Given the description of an element on the screen output the (x, y) to click on. 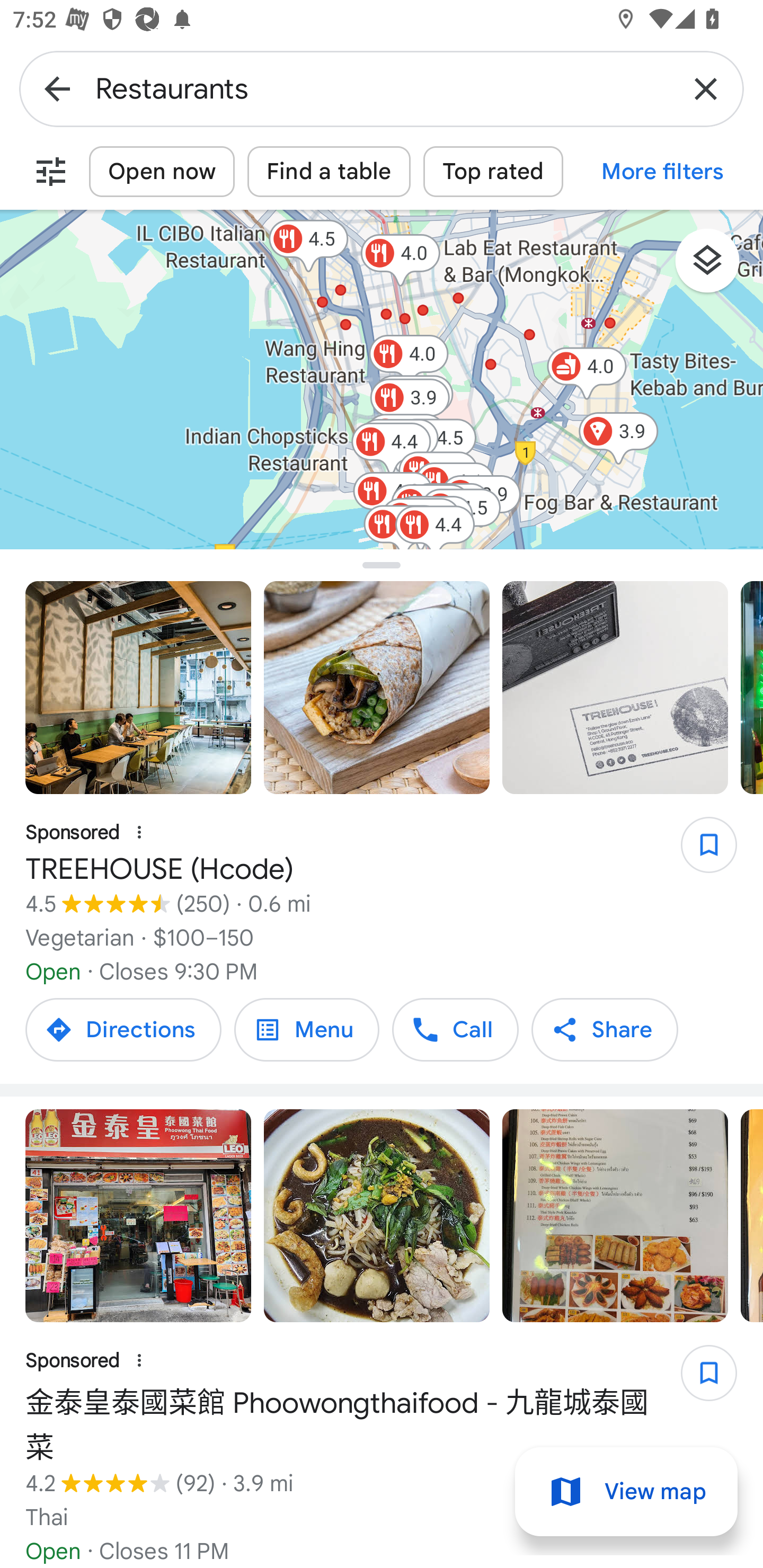
Back (57, 88)
Restaurants (381, 88)
Clear (705, 88)
More filters (50, 171)
Open now Open now Open now (162, 171)
Find a table Find a table Find a table (328, 171)
Top rated Top rated Top rated (493, 171)
More filters More filters More filters (663, 171)
Layers (716, 267)
Photo (138, 687)
Photo (376, 687)
Photo (614, 687)
About this ad (139, 832)
Save TREEHOUSE (Hcode) to lists (699, 851)
TREEHOUSE (Hcode) Menu Menu TREEHOUSE (Hcode) Menu (306, 1028)
Photo (138, 1214)
Photo (376, 1214)
Photo (614, 1214)
About this ad (139, 1359)
Save 金泰皇泰國菜館 Phoowongthaifood - 九龍城泰國菜 to lists (699, 1378)
View map Map view (626, 1491)
